Given the description of an element on the screen output the (x, y) to click on. 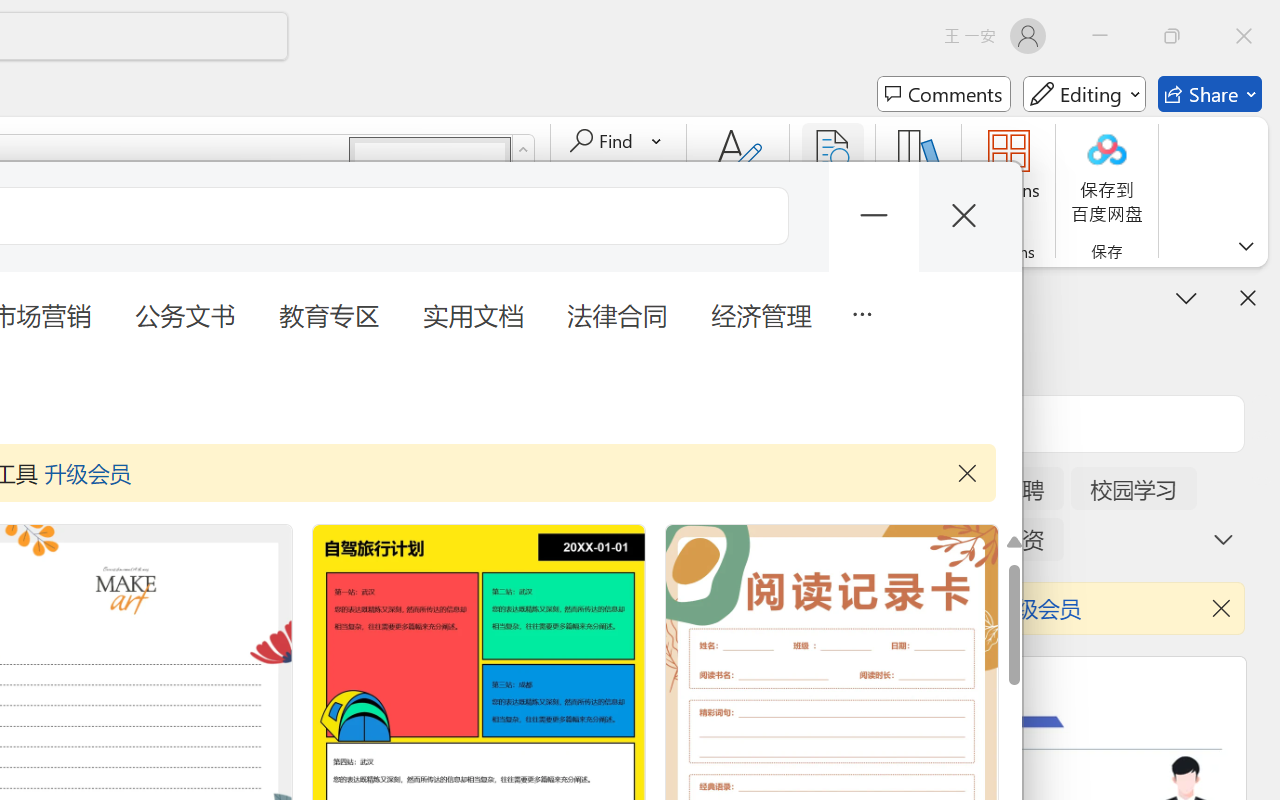
Close (1244, 36)
Share (1210, 94)
Task Pane Options (1186, 297)
More Options (657, 141)
Minimize (1099, 36)
Find (616, 141)
Restore Down (1172, 36)
Mode (1083, 94)
